Given the description of an element on the screen output the (x, y) to click on. 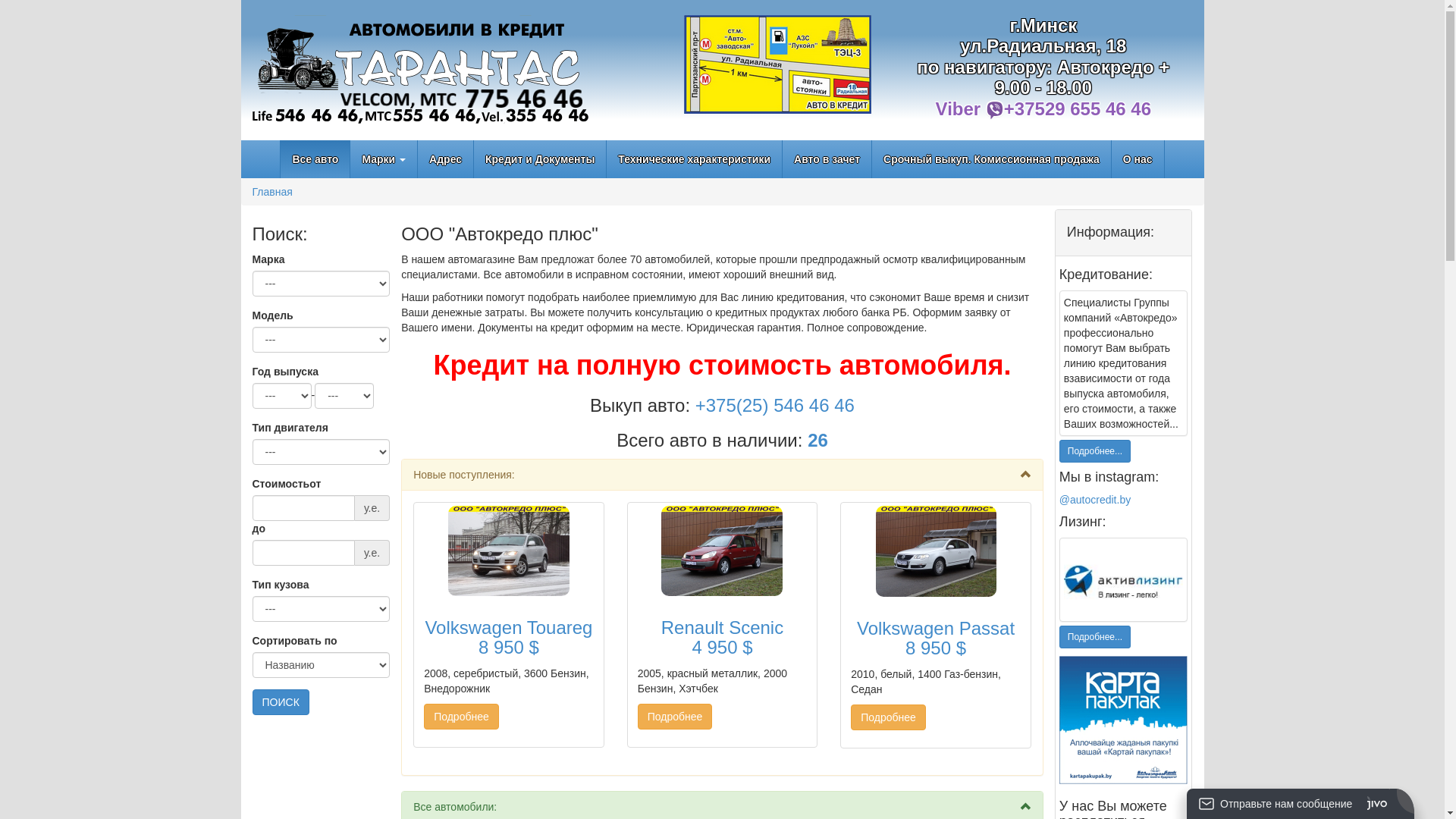
+375(25) 546 46 46 Element type: text (774, 405)
Volkswagen Passat Element type: hover (935, 550)
Volkswagen Passat Element type: hover (935, 550)
Volkswagen Passat
8 950 $ Element type: text (935, 638)
Renault Scenic Element type: hover (721, 550)
Renault Scenic
4 950 $ Element type: text (722, 638)
Volkswagen Touareg
8 950 $ Element type: text (508, 638)
@autocredit.by Element type: text (1094, 499)
Renault Scenic Element type: hover (722, 550)
Volkswagen Touareg Element type: hover (508, 550)
Volkswagen Touareg Element type: hover (508, 550)
